Given the description of an element on the screen output the (x, y) to click on. 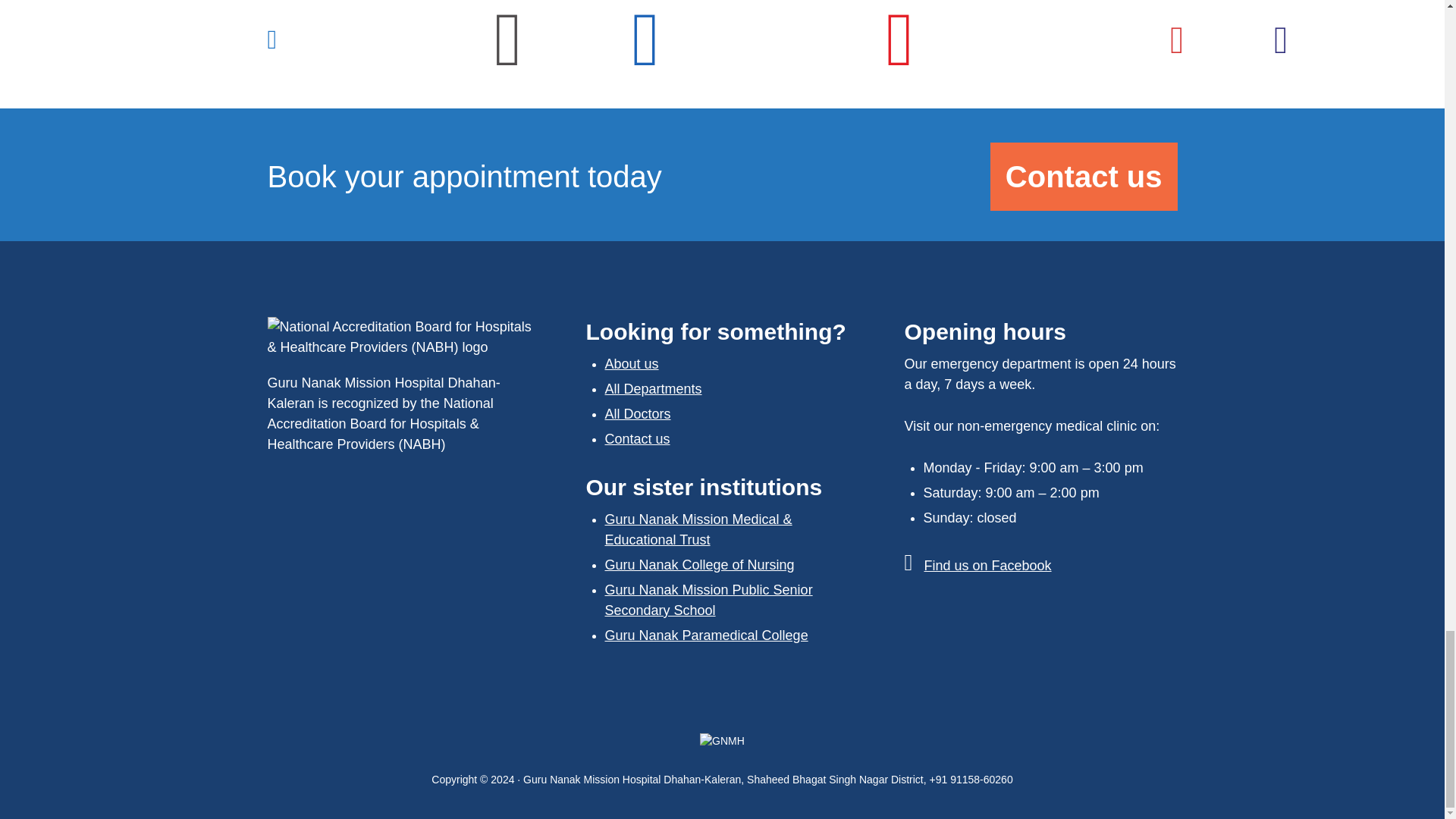
Find us on Facebook (987, 565)
Guru Nanak College of Nursing (699, 564)
All Departments (653, 388)
Guru Nanak Paramedical College (706, 635)
Contact us (1083, 176)
All Doctors (638, 413)
About us (632, 363)
Guru Nanak Mission Public Senior Secondary School (708, 600)
Contact us (637, 438)
